Given the description of an element on the screen output the (x, y) to click on. 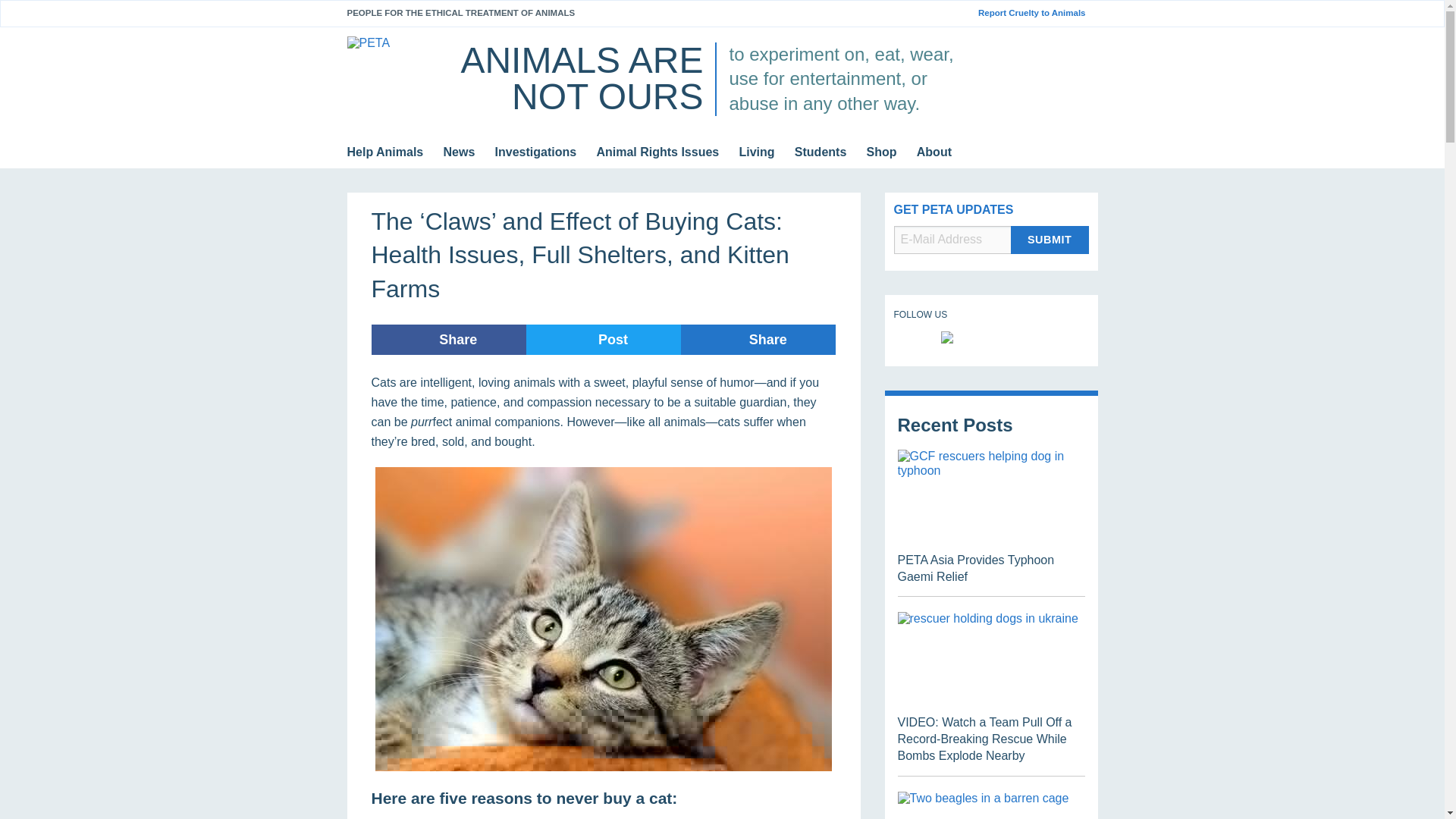
Submit (1049, 239)
PEOPLE FOR THE ETHICAL TREATMENT OF ANIMALS (461, 13)
Report Cruelty to Animals (1037, 13)
ANIMALS ARE NOT OURS (581, 78)
